Given the description of an element on the screen output the (x, y) to click on. 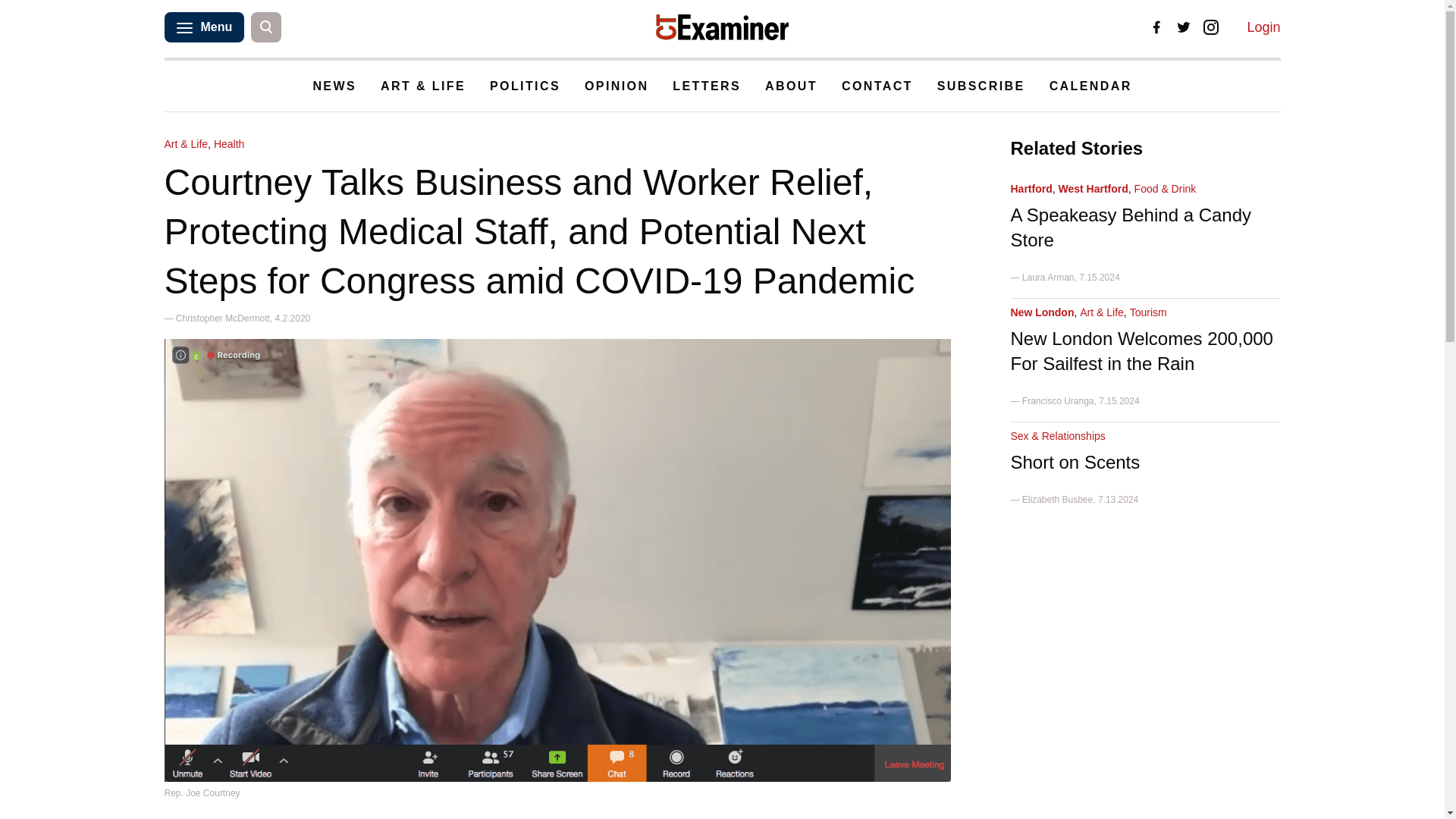
Login (1262, 27)
POLITICS (524, 85)
SUBSCRIBE (981, 85)
CT Examiner (722, 27)
CALENDAR (1090, 85)
LETTERS (706, 85)
ABOUT (790, 85)
NEWS (334, 85)
instagram (1211, 27)
OPINION (616, 85)
facebook (1155, 27)
twitter (1183, 27)
Health (229, 143)
CONTACT (876, 85)
Menu (203, 27)
